Given the description of an element on the screen output the (x, y) to click on. 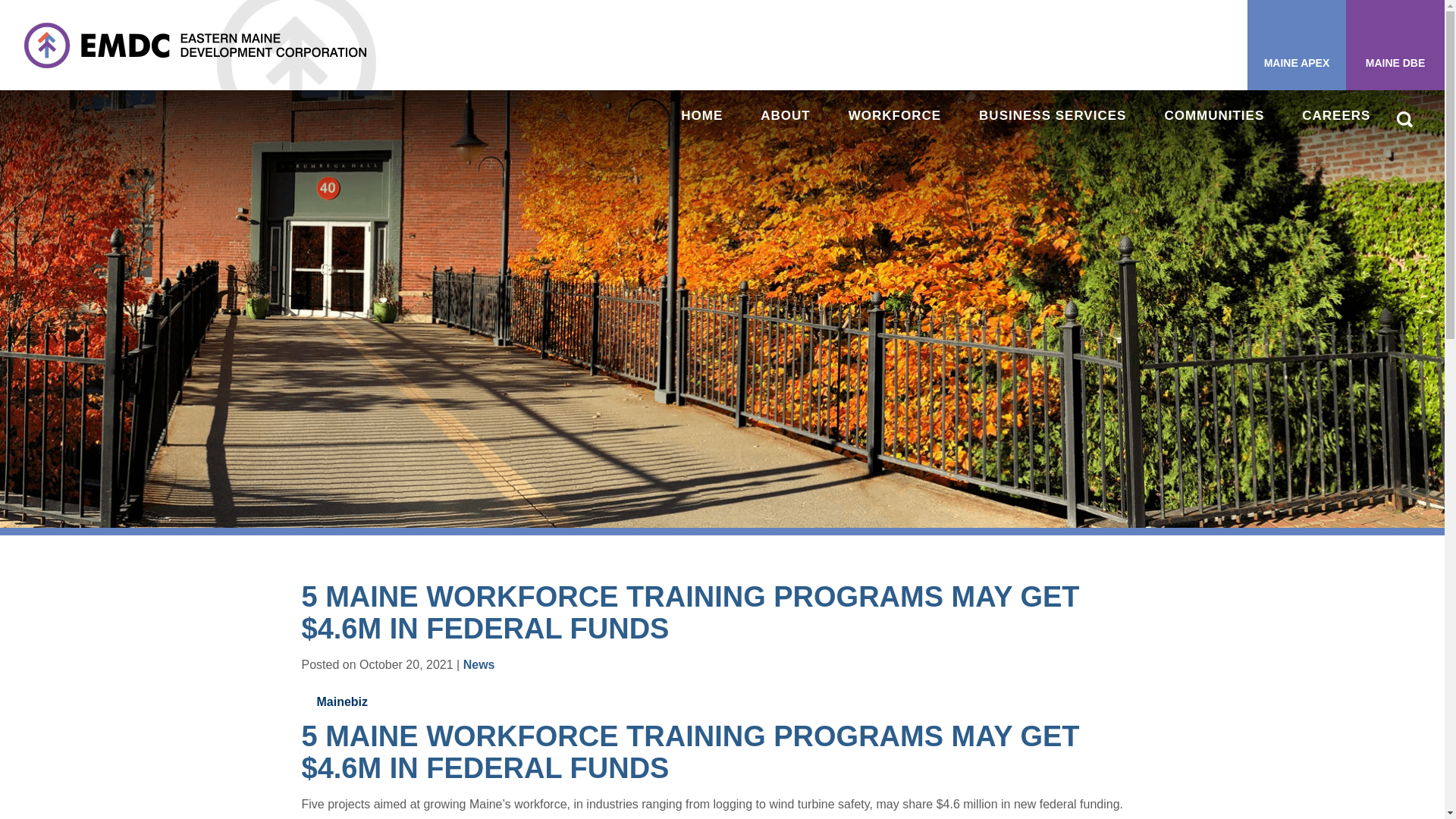
About (784, 115)
News (479, 664)
MAINE APEX (1296, 45)
BUSINESS SERVICES (1051, 115)
Home (701, 115)
Workforce (894, 115)
CAREERS (1335, 115)
HOME (701, 115)
ABOUT (784, 115)
COMMUNITIES (1213, 115)
Mainebiz (342, 701)
WORKFORCE (894, 115)
